Given the description of an element on the screen output the (x, y) to click on. 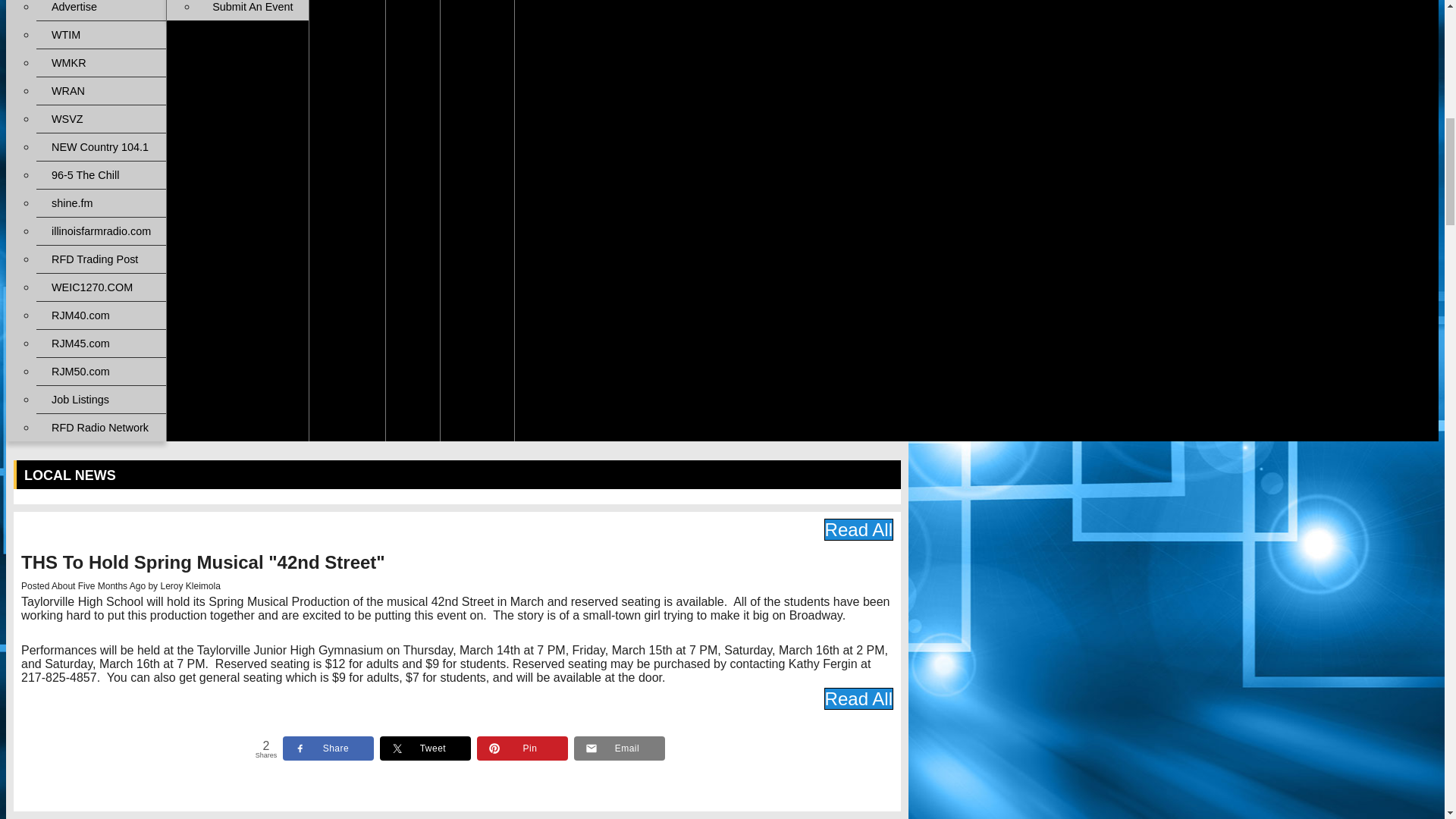
Read All (858, 529)
